Given the description of an element on the screen output the (x, y) to click on. 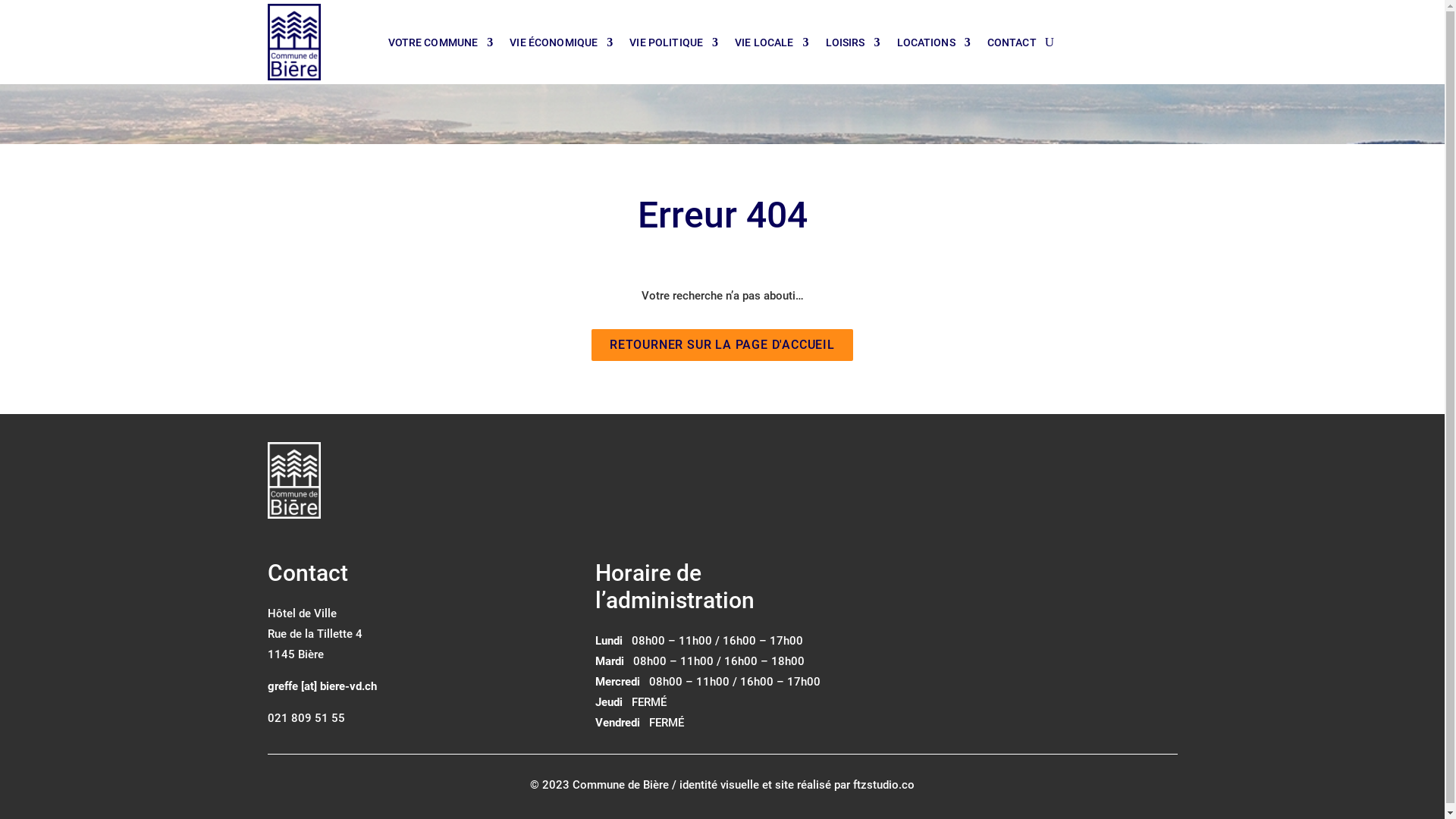
VIE LOCALE Element type: text (771, 45)
RETOURNER SUR LA PAGE D'ACCUEIL Element type: text (722, 344)
logo_commune-de-biere_bleu Element type: hover (293, 41)
logo_commune-de-biere_blanc Element type: hover (293, 480)
LOISIRS Element type: text (852, 45)
CONTACT Element type: text (1011, 45)
greffe [at] biere-vd.ch Element type: text (321, 686)
VIE POLITIQUE Element type: text (673, 45)
VOTRE COMMUNE Element type: text (440, 45)
LOCATIONS Element type: text (933, 45)
